Given the description of an element on the screen output the (x, y) to click on. 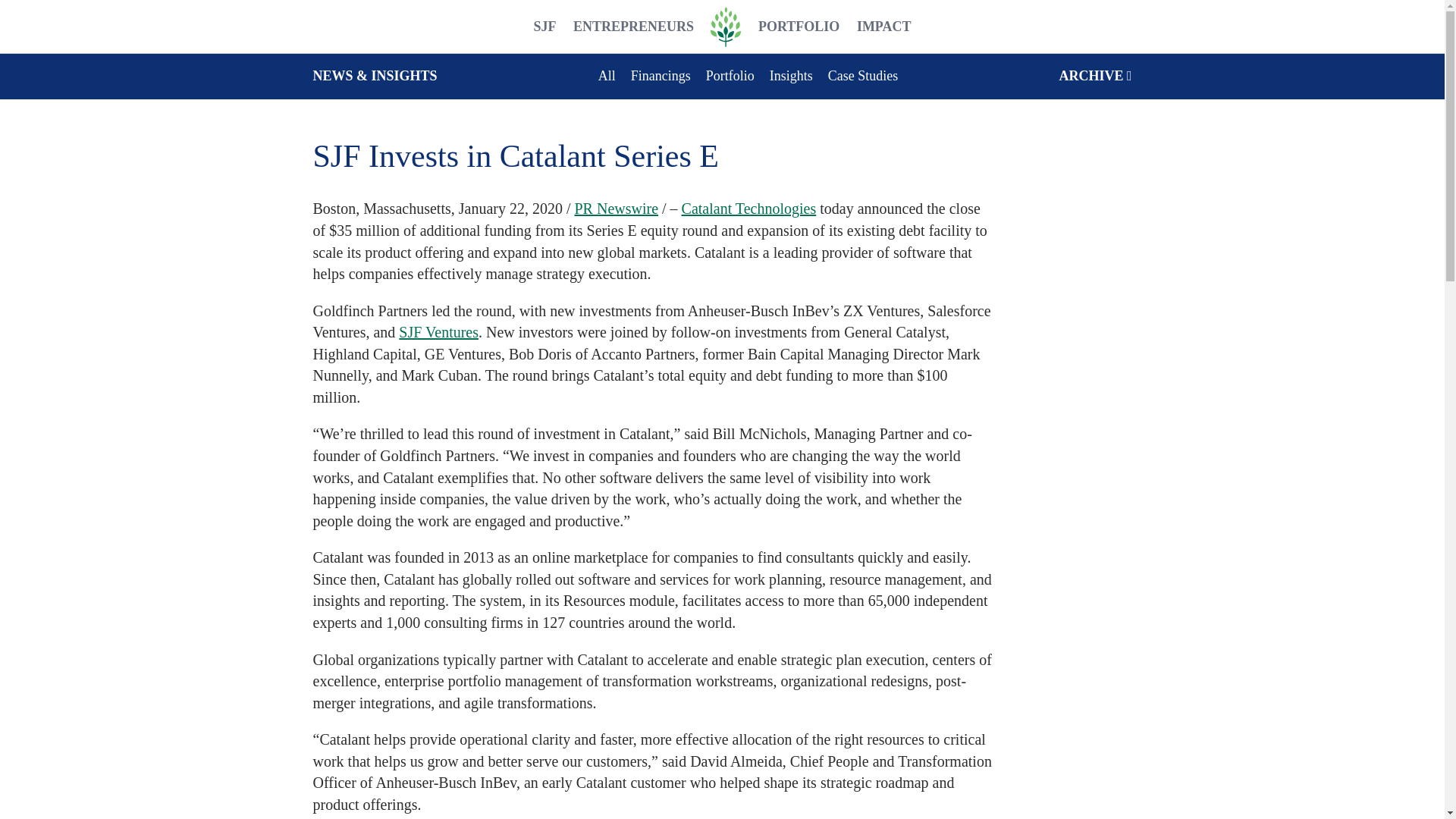
Case Studies (863, 75)
Catalant Technologies (748, 208)
ENTREPRENEURS (633, 26)
Financings (660, 75)
Portfolio (730, 75)
IMPACT (883, 26)
All (606, 75)
SJF Ventures (438, 331)
PR Newswire (615, 208)
PORTFOLIO (799, 26)
